Given the description of an element on the screen output the (x, y) to click on. 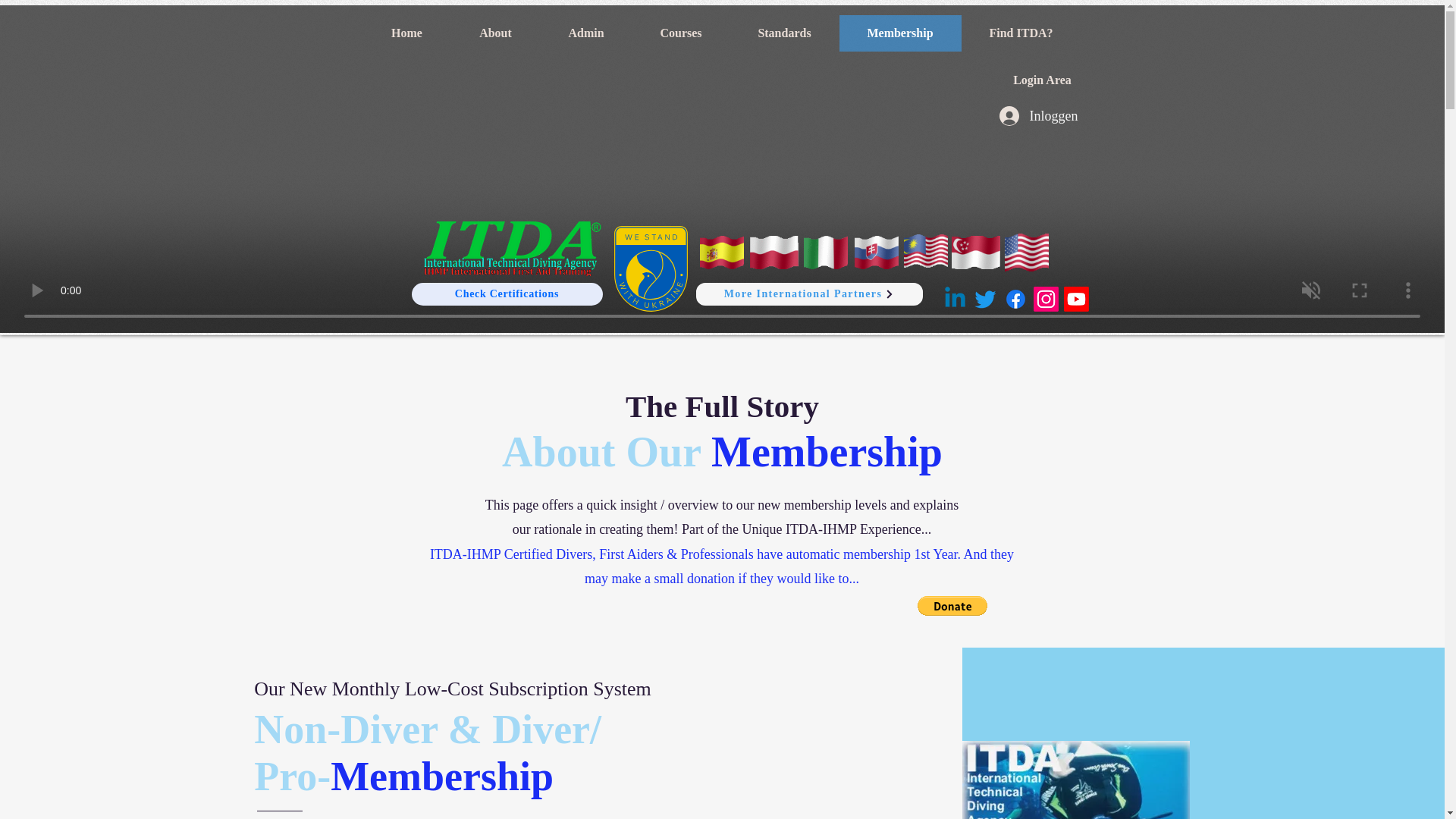
About (494, 33)
Find ITDA? (1020, 33)
Courses (680, 33)
Standards (783, 33)
Admin (585, 33)
Membership (899, 33)
Home (405, 33)
